Given the description of an element on the screen output the (x, y) to click on. 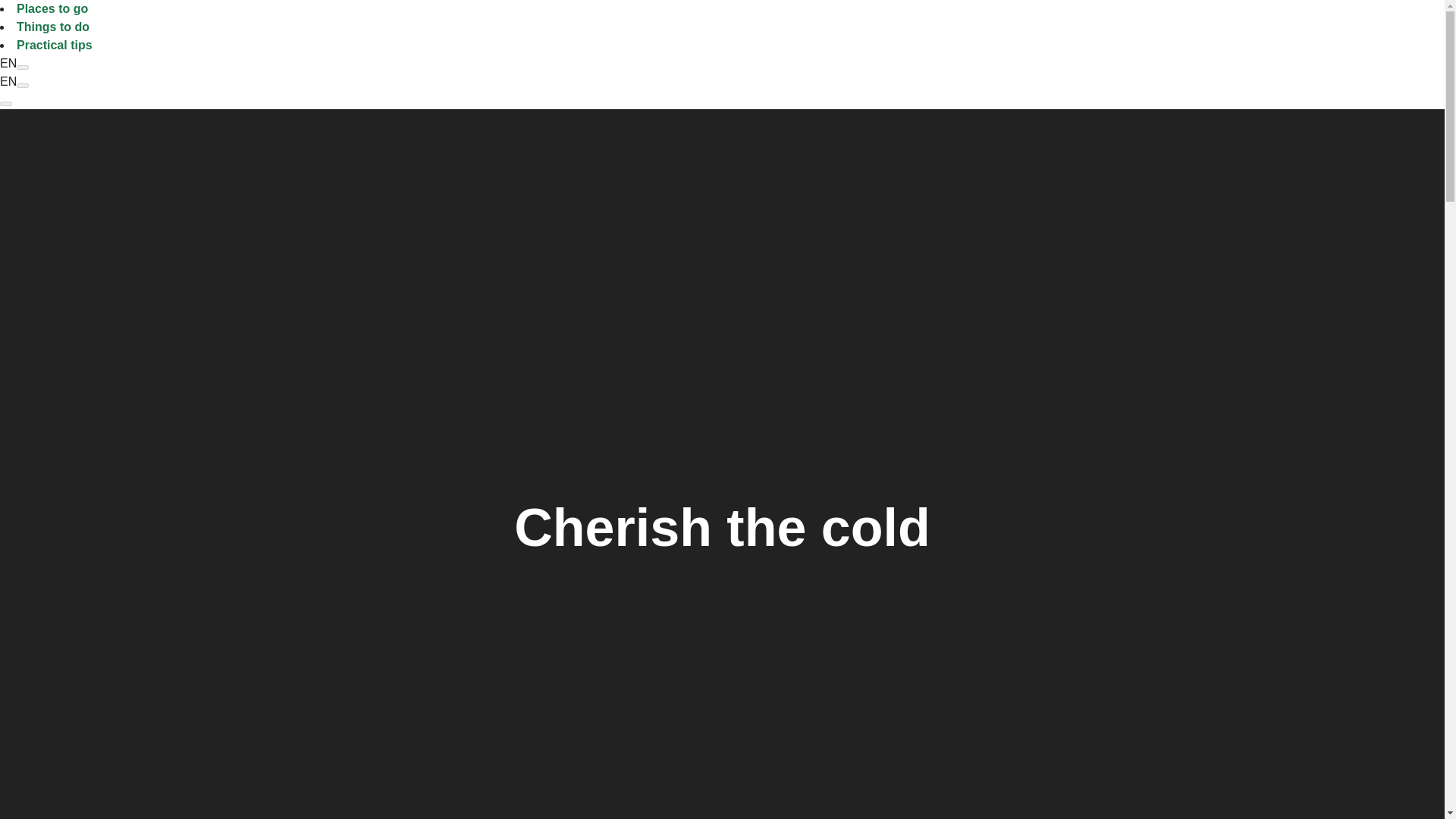
Practical tips (54, 44)
Things to do (52, 26)
Places to go (51, 8)
